Given the description of an element on the screen output the (x, y) to click on. 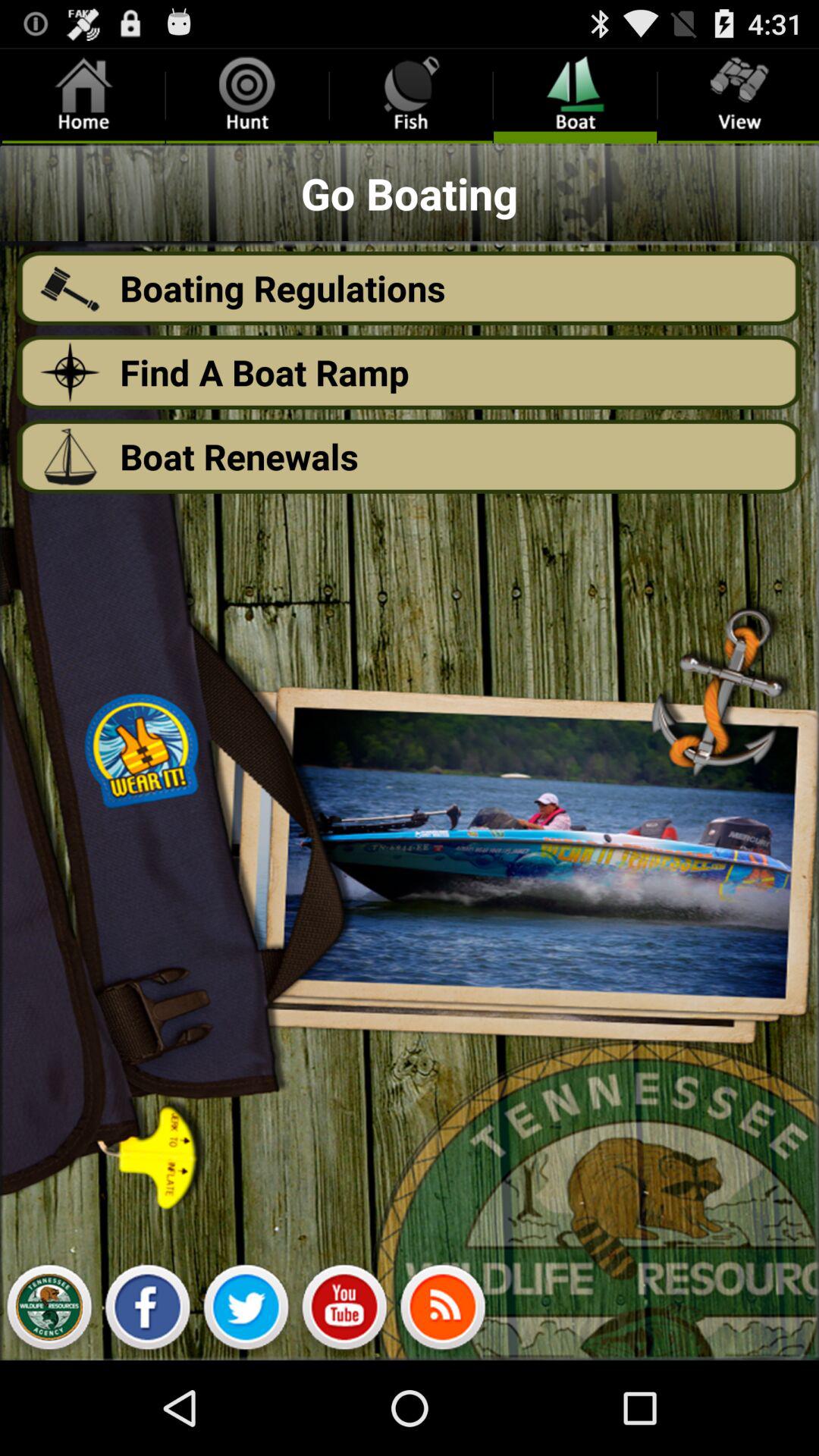
open youtube channel (344, 1311)
